Given the description of an element on the screen output the (x, y) to click on. 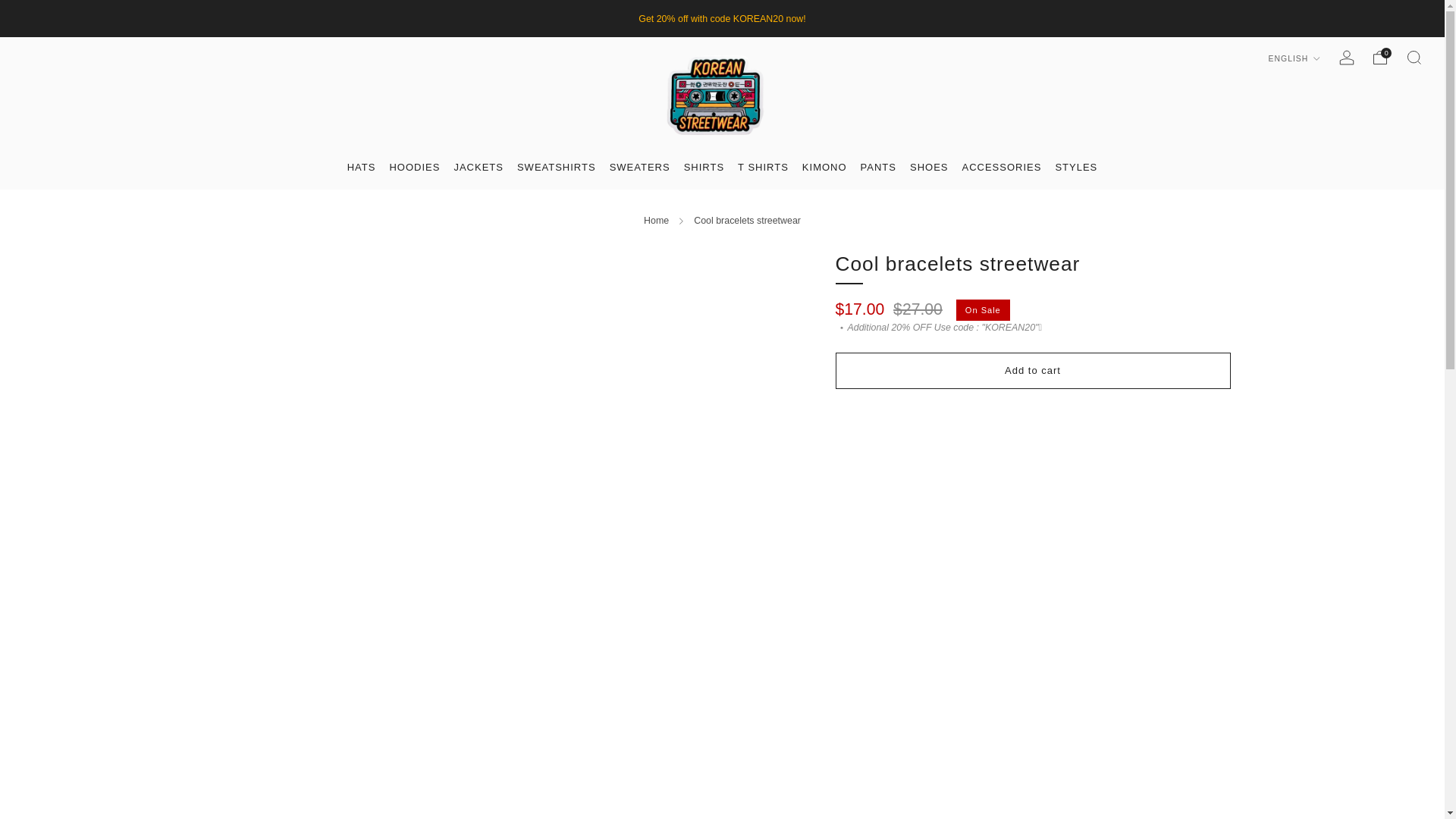
HATS (361, 167)
JACKETS (477, 167)
HOODIES (413, 167)
SWEATSHIRTS (555, 167)
Home (655, 220)
